Given the description of an element on the screen output the (x, y) to click on. 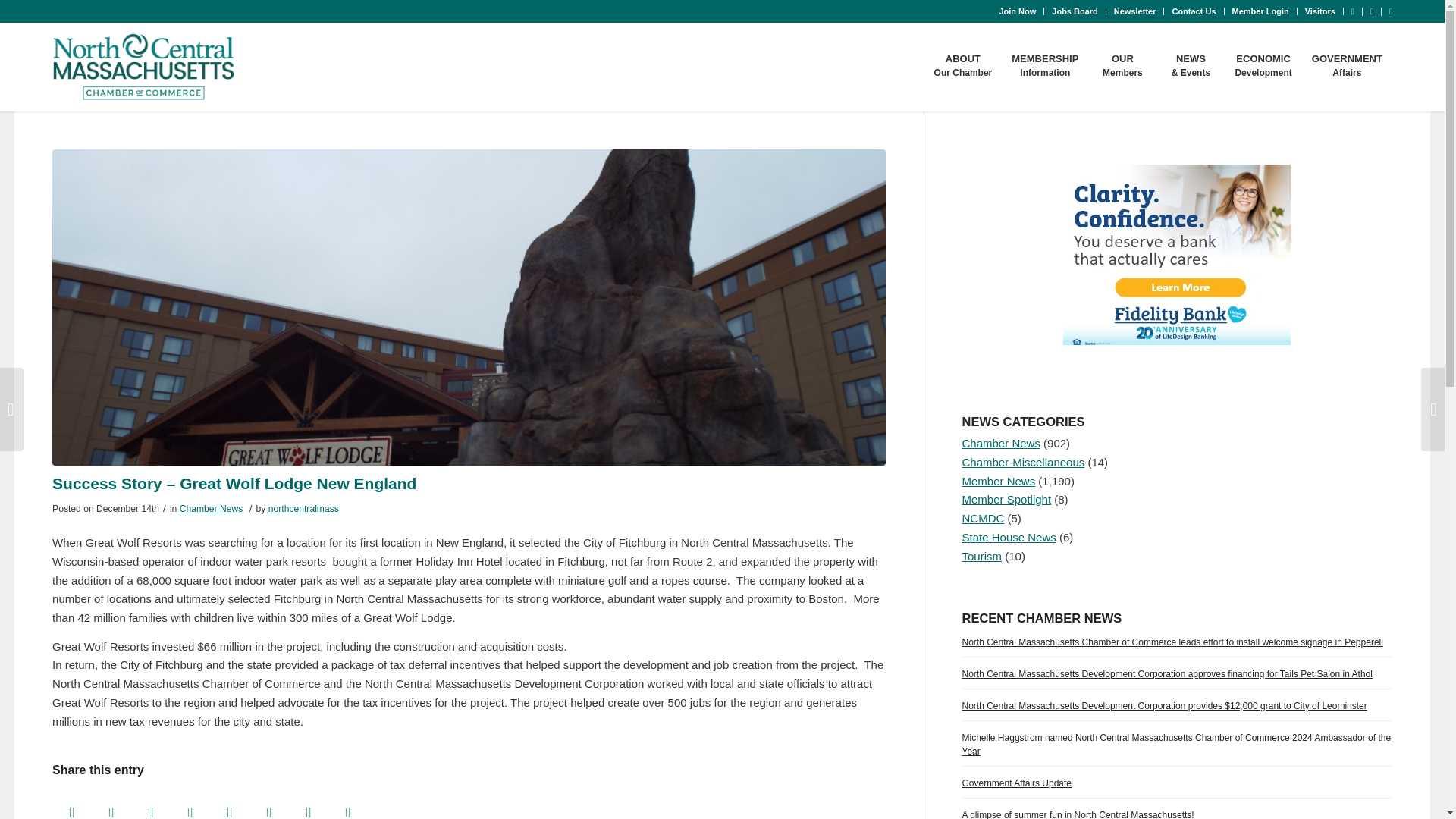
Jobs Board (1074, 11)
Visitors (1319, 11)
Member Login (1259, 11)
Posts by northcentralmass (303, 508)
Join Now (1016, 11)
logo-new (143, 66)
logo-new (143, 67)
Newsletter (1134, 11)
